Given the description of an element on the screen output the (x, y) to click on. 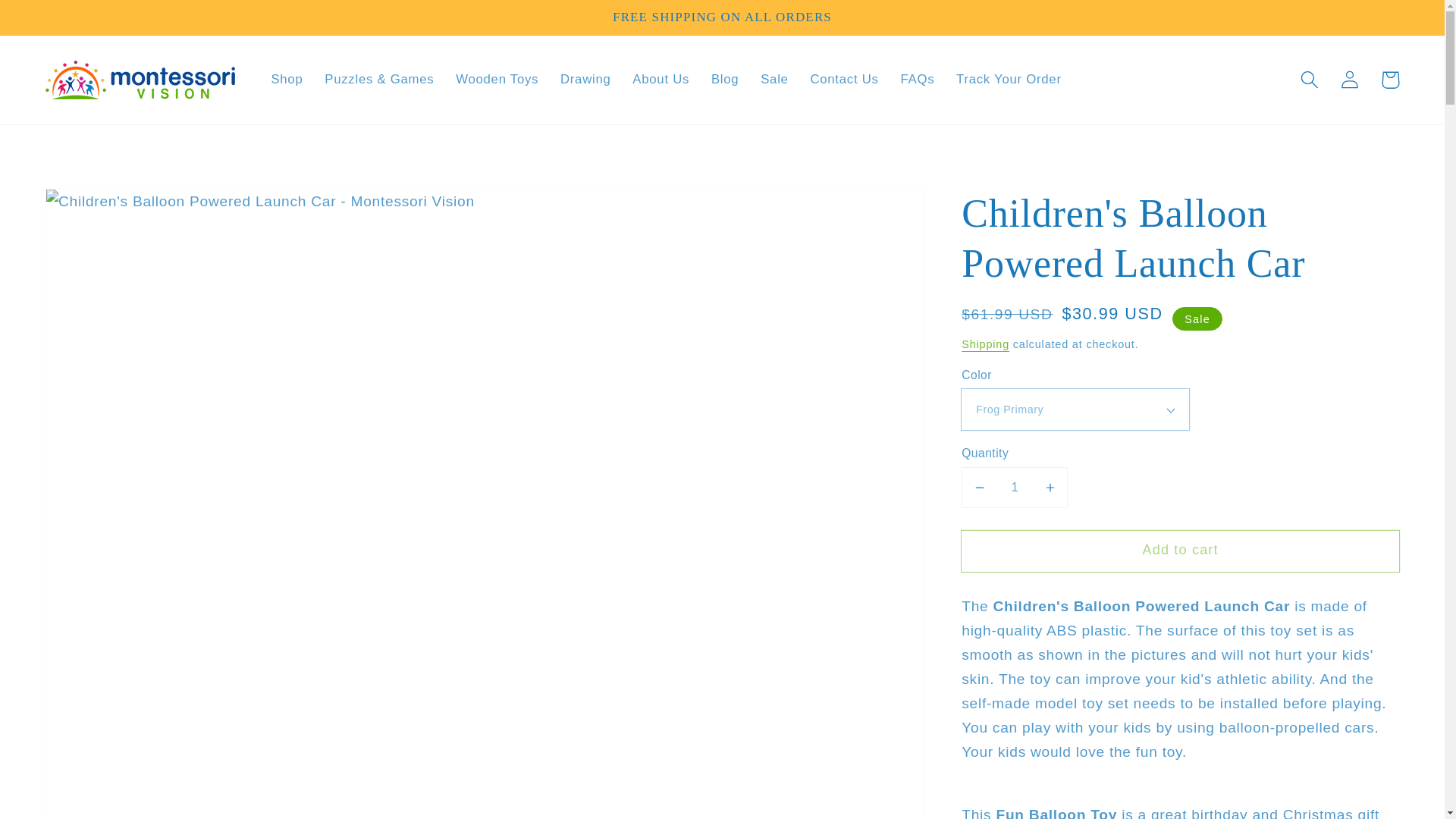
Track Your Order (1007, 79)
About Us (660, 79)
Blog (724, 79)
Skip to product information (99, 208)
FAQs (916, 79)
Contact Us (844, 79)
Log in (1350, 79)
Skip to content (53, 20)
Wooden Toys (497, 79)
Shop (287, 79)
Sale (774, 79)
Cart (1390, 79)
Drawing (585, 79)
1 (1013, 486)
